Given the description of an element on the screen output the (x, y) to click on. 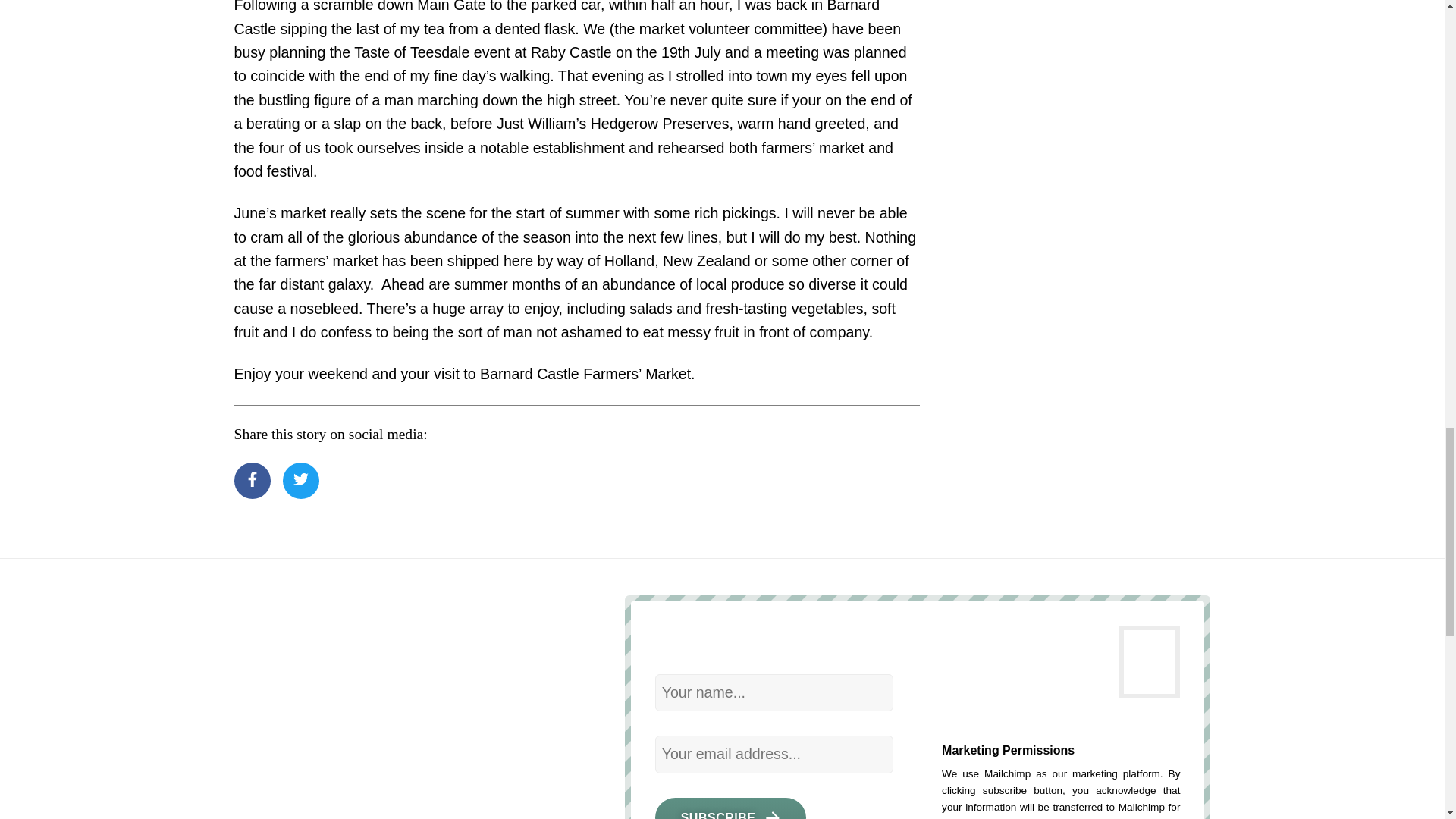
SUBSCRIBE (730, 808)
Share this page on Facebook (250, 480)
Share this page on Twitter (300, 480)
